Given the description of an element on the screen output the (x, y) to click on. 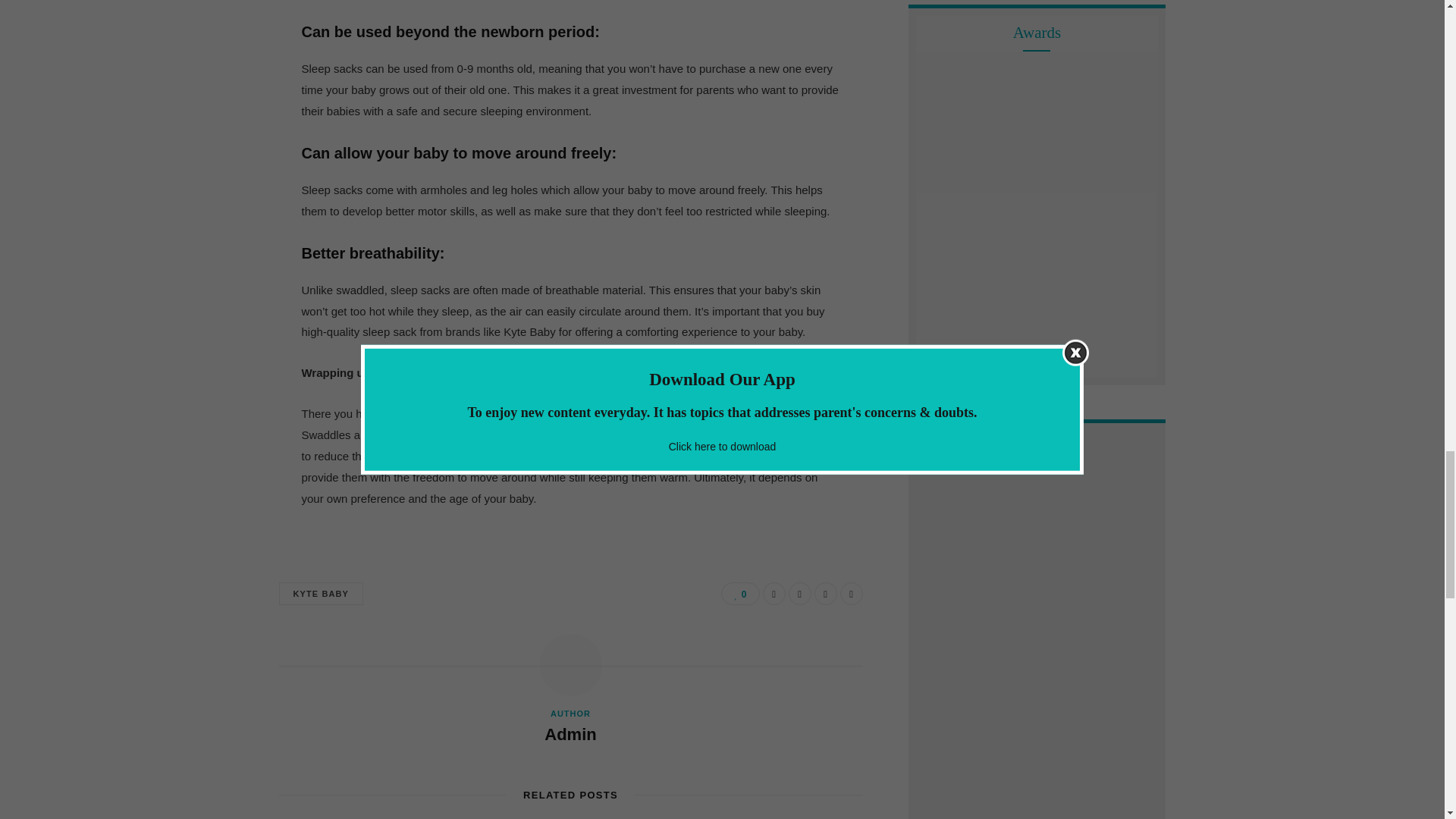
Share on Twitter (799, 593)
Share on Facebook (774, 593)
Posts by Admin (569, 734)
Email (851, 593)
Pinterest (825, 593)
